Given the description of an element on the screen output the (x, y) to click on. 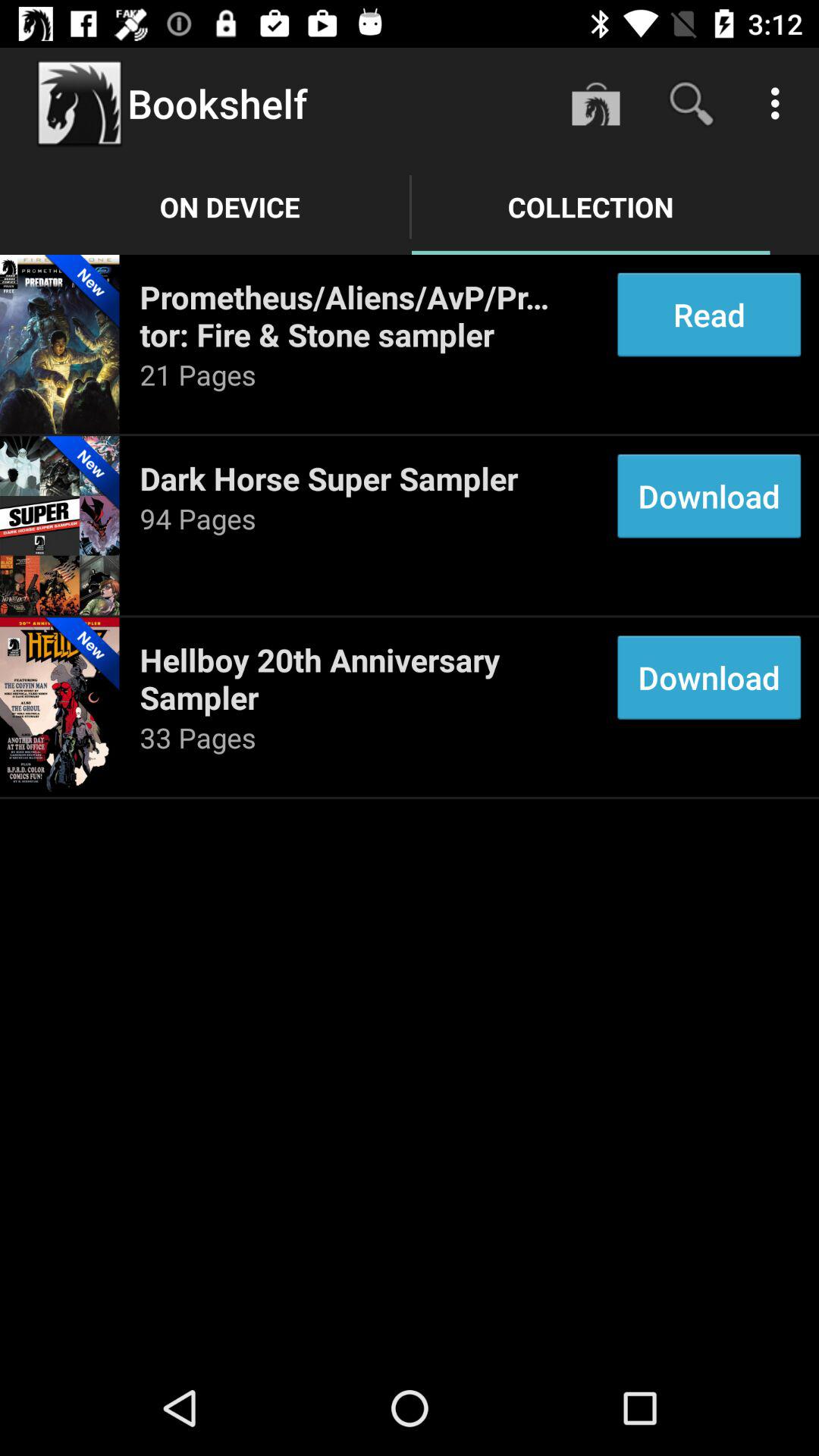
open icon above the download (708, 314)
